Given the description of an element on the screen output the (x, y) to click on. 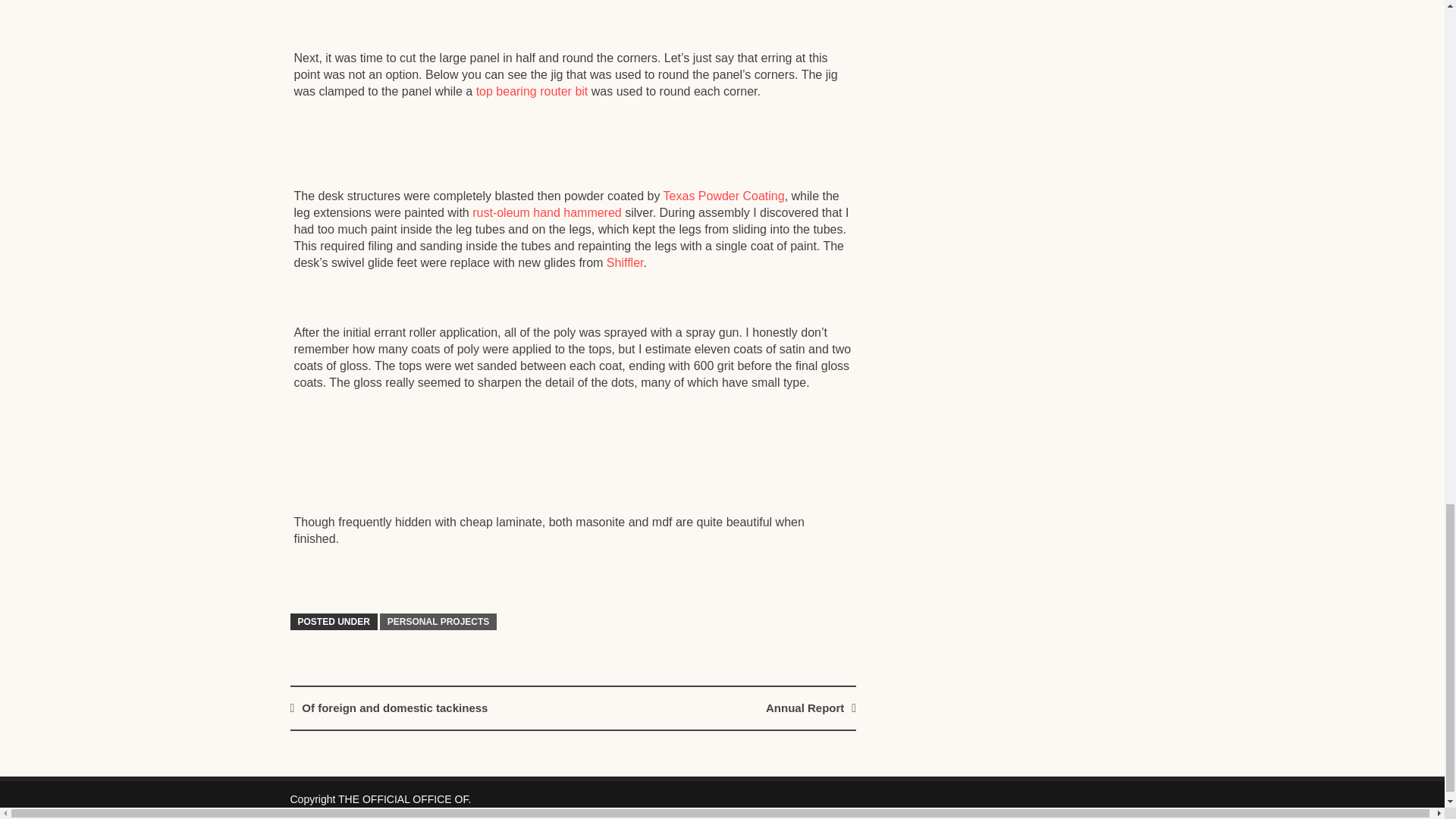
Texas Powder Coating (723, 195)
Shiffler school chair swivel glides (625, 262)
Shiffler (625, 262)
Of foreign and domestic tackiness (394, 707)
PERSONAL PROJECTS (438, 621)
top bearing router bit (532, 91)
rust-oleum hand hammered (546, 212)
Annual Report (804, 707)
